Given the description of an element on the screen output the (x, y) to click on. 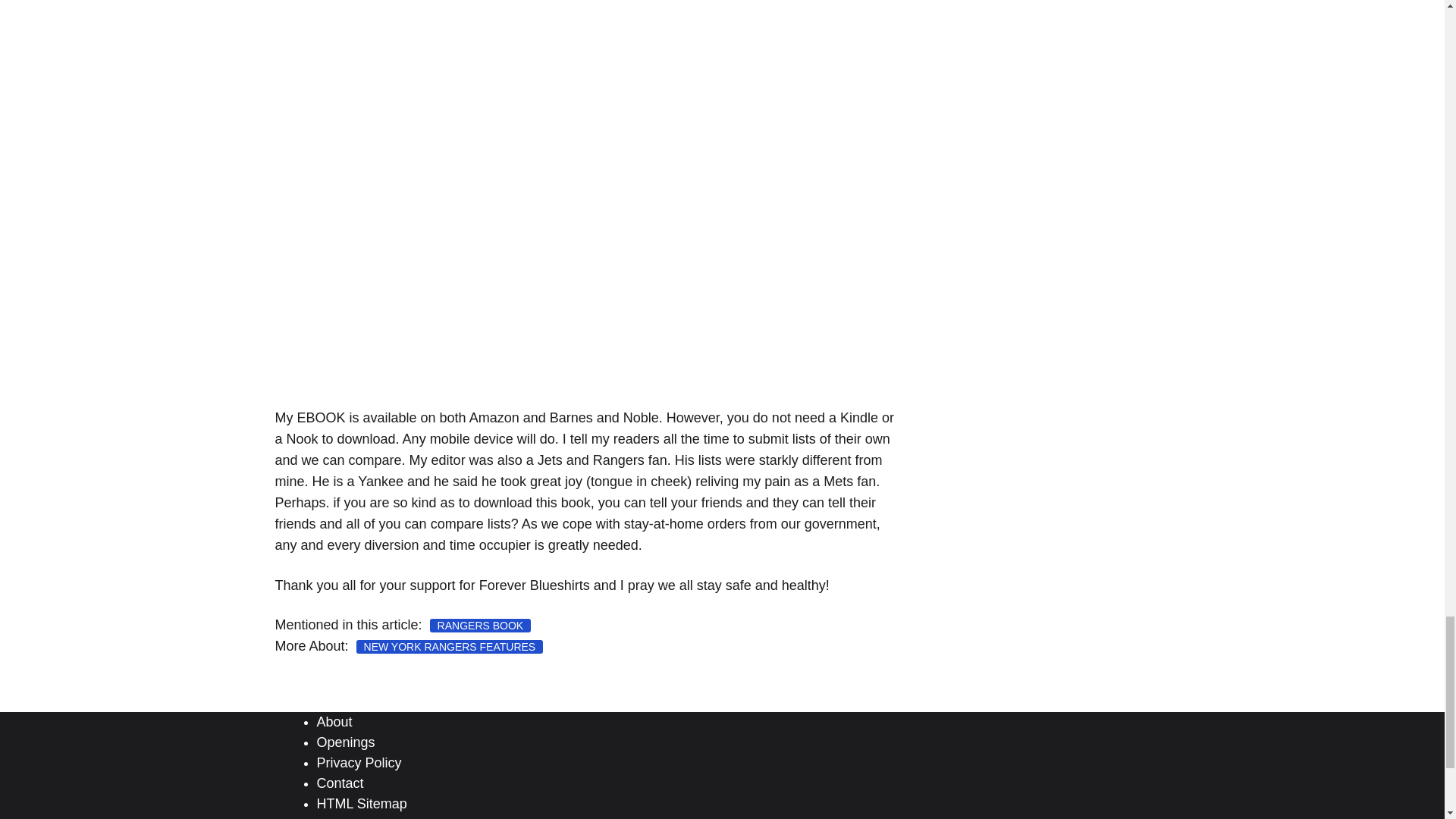
HTML Sitemap (362, 803)
NEW YORK RANGERS FEATURES (449, 646)
About (334, 721)
Privacy Policy (359, 762)
Contact (340, 783)
RANGERS BOOK (480, 625)
Openings (346, 742)
